Given the description of an element on the screen output the (x, y) to click on. 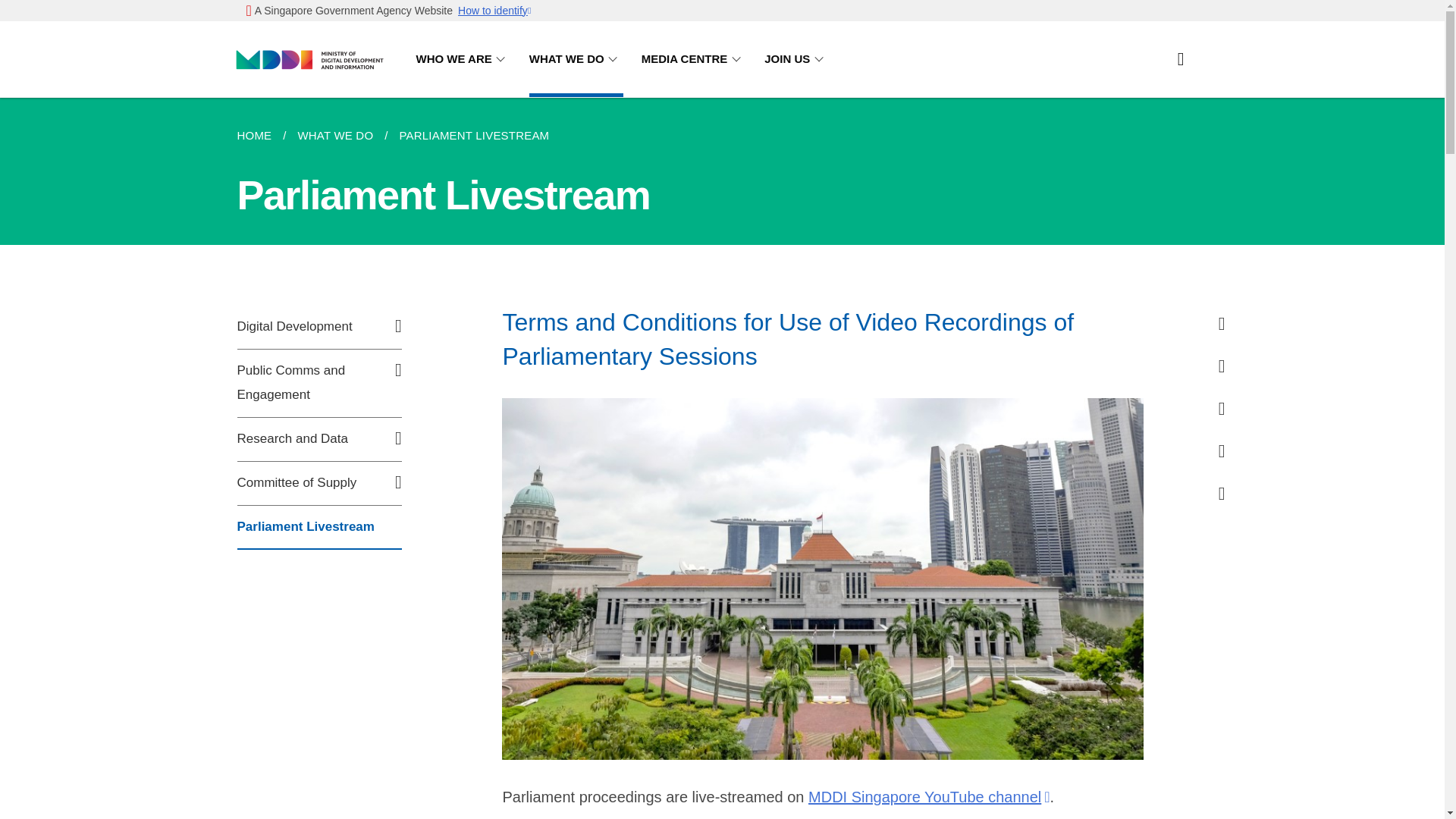
PARLIAMENT LIVESTREAM (473, 135)
WHAT WE DO (576, 59)
WHAT WE DO (334, 135)
HOME (258, 135)
MEDIA CENTRE (694, 59)
WHO WE ARE (462, 59)
